Given the description of an element on the screen output the (x, y) to click on. 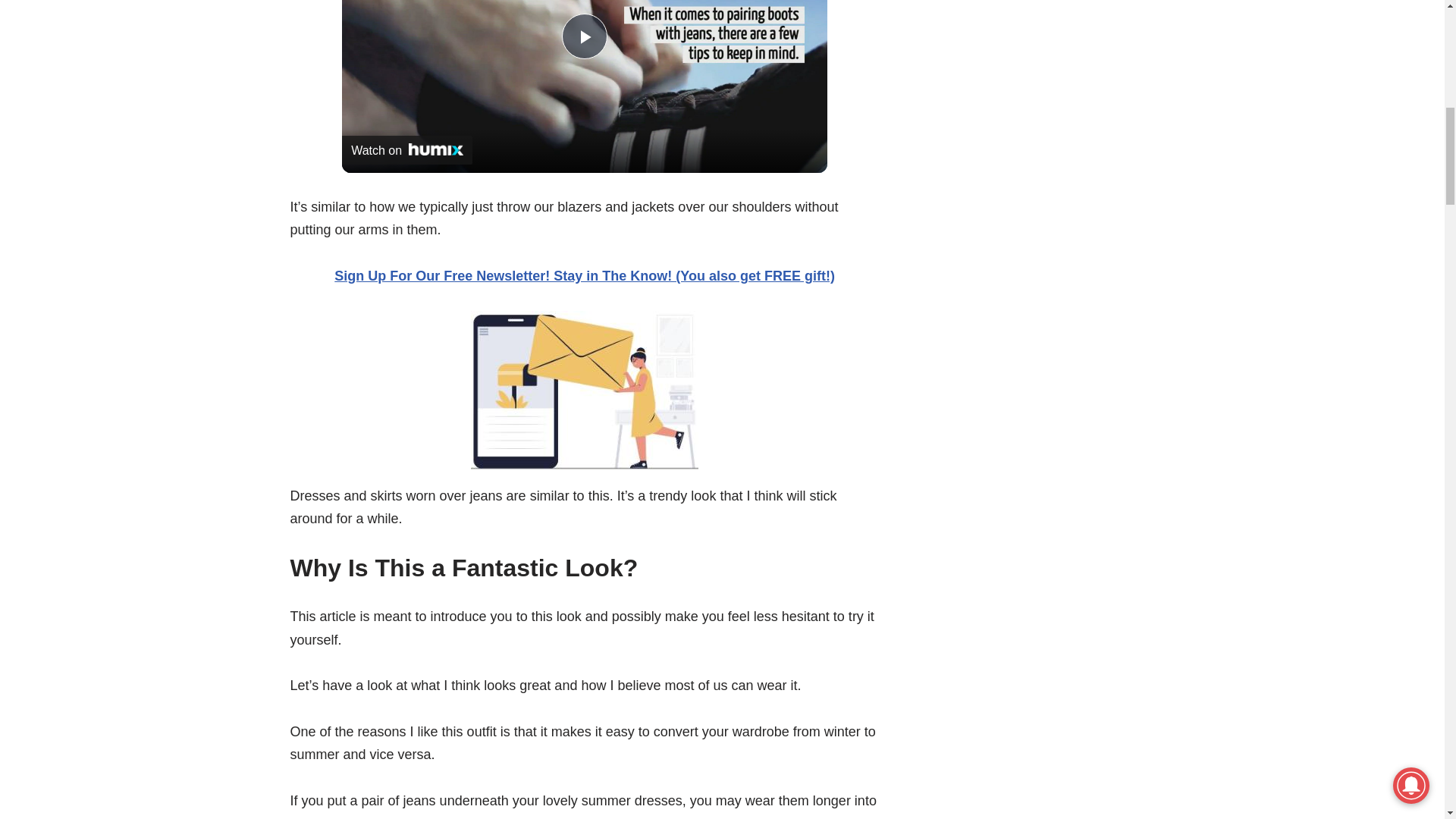
Play Video (584, 35)
